Given the description of an element on the screen output the (x, y) to click on. 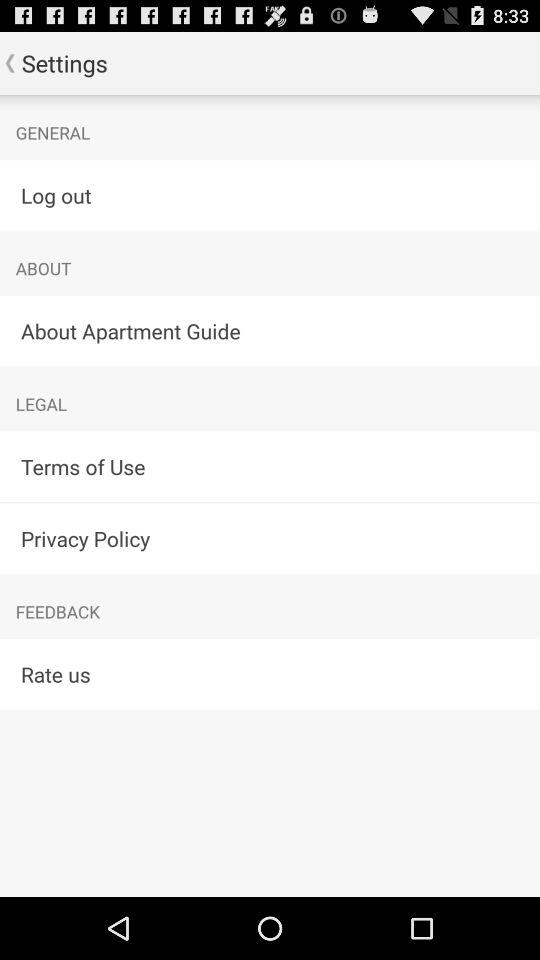
click the icon above about item (270, 194)
